Given the description of an element on the screen output the (x, y) to click on. 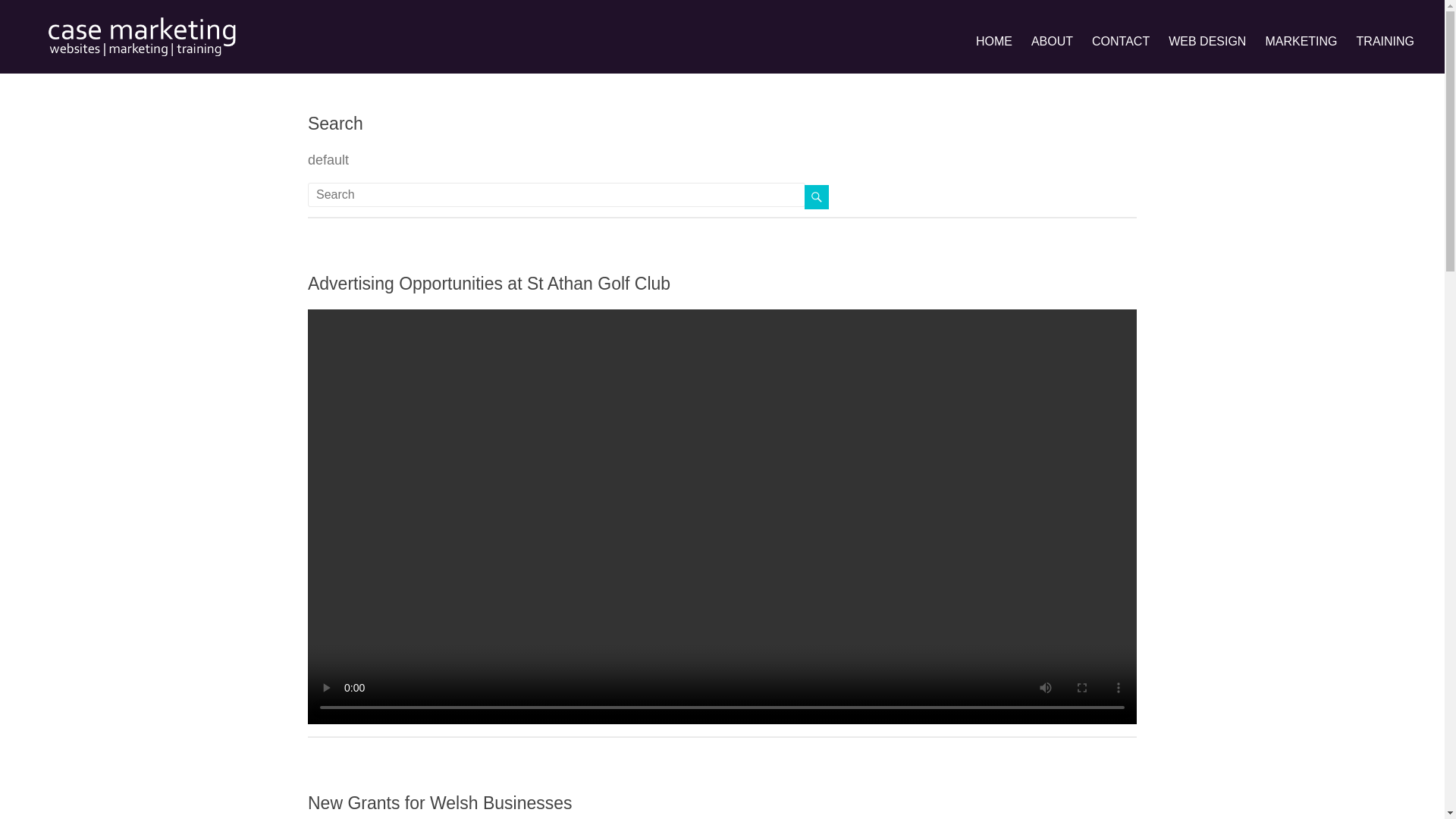
Advertising Opportunities at St Athan Golf Club (488, 283)
Search (334, 123)
WEB DESIGN (1207, 41)
TRAINING (1384, 41)
Search (334, 123)
ABOUT (1051, 41)
New Grants for Welsh Businesses (439, 803)
CONTACT (1121, 41)
Advertising Opportunities at St Athan Golf Club (488, 283)
HOME (993, 41)
